Given the description of an element on the screen output the (x, y) to click on. 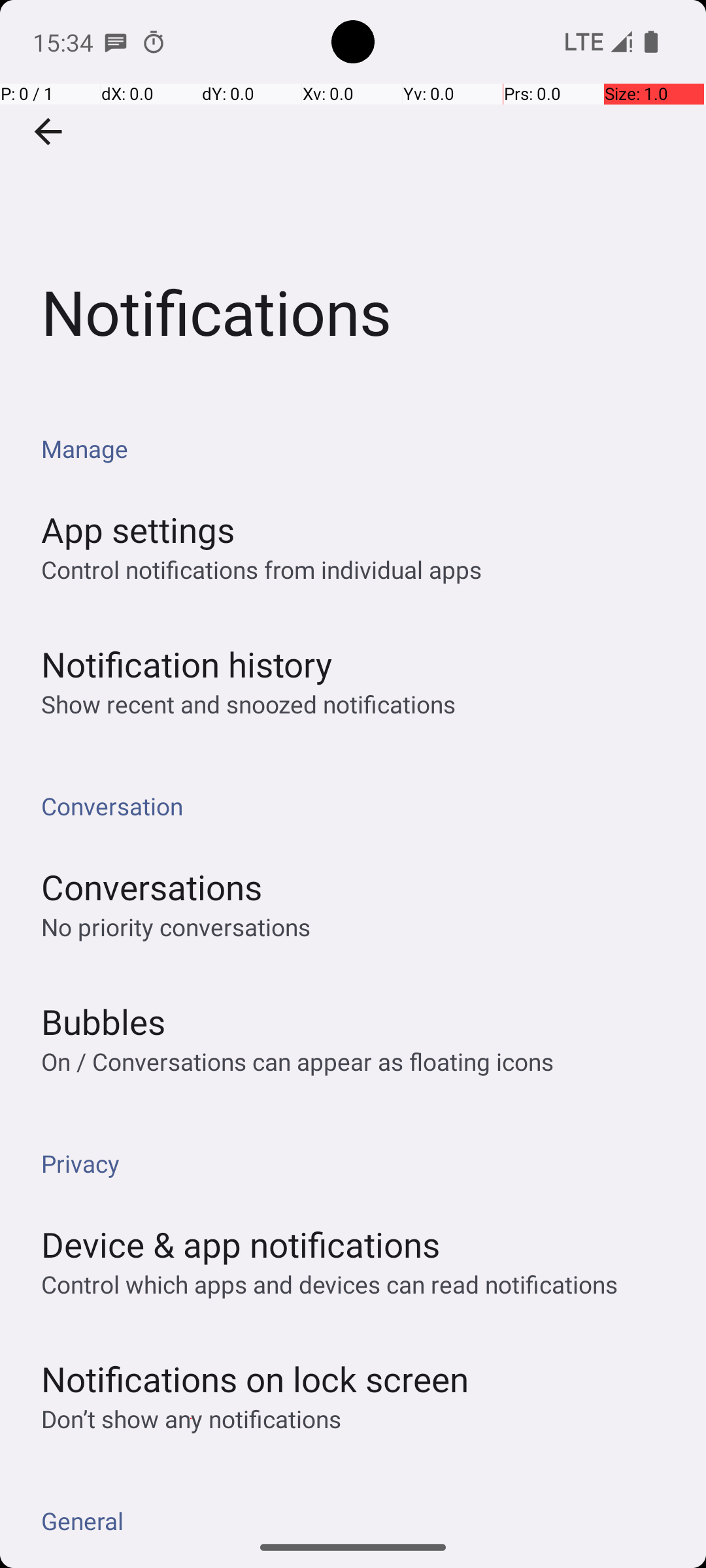
Don’t show any notifications Element type: android.widget.TextView (191, 1418)
